Given the description of an element on the screen output the (x, y) to click on. 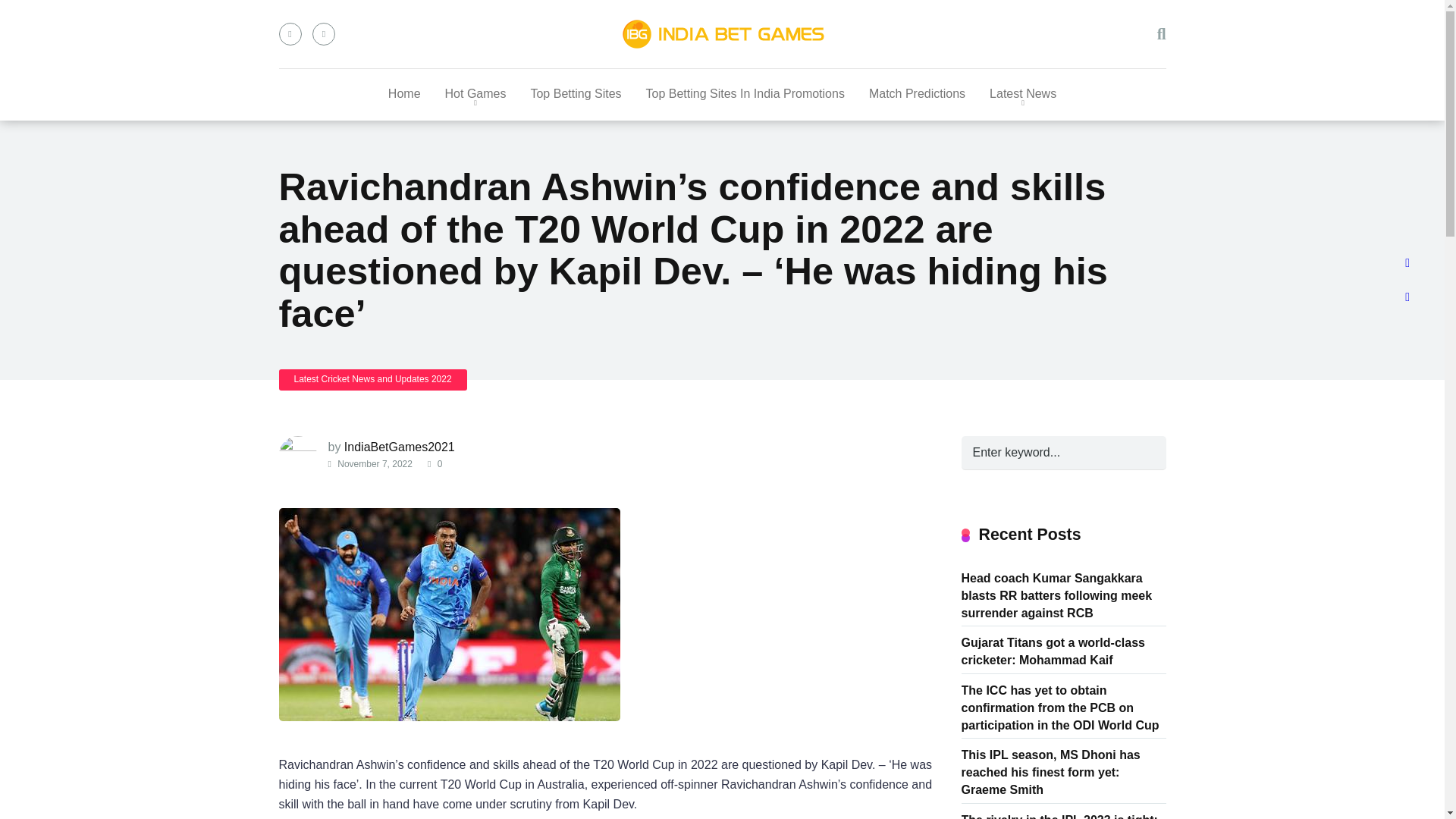
Hot Games (475, 94)
IndiaBetGames2021 (398, 446)
Gujarat Titans got a world-class cricketer: Mohammad Kaif (1052, 649)
Home (403, 94)
Posts by IndiaBetGames2021 (398, 446)
Top Betting Sites In India Promotions (745, 94)
Top Betting Sites (575, 94)
Twitter (323, 33)
India Bet Games (721, 33)
Facebook (290, 33)
Latest Cricket News and Updates 2022 (373, 379)
Match Predictions (916, 94)
